Given the description of an element on the screen output the (x, y) to click on. 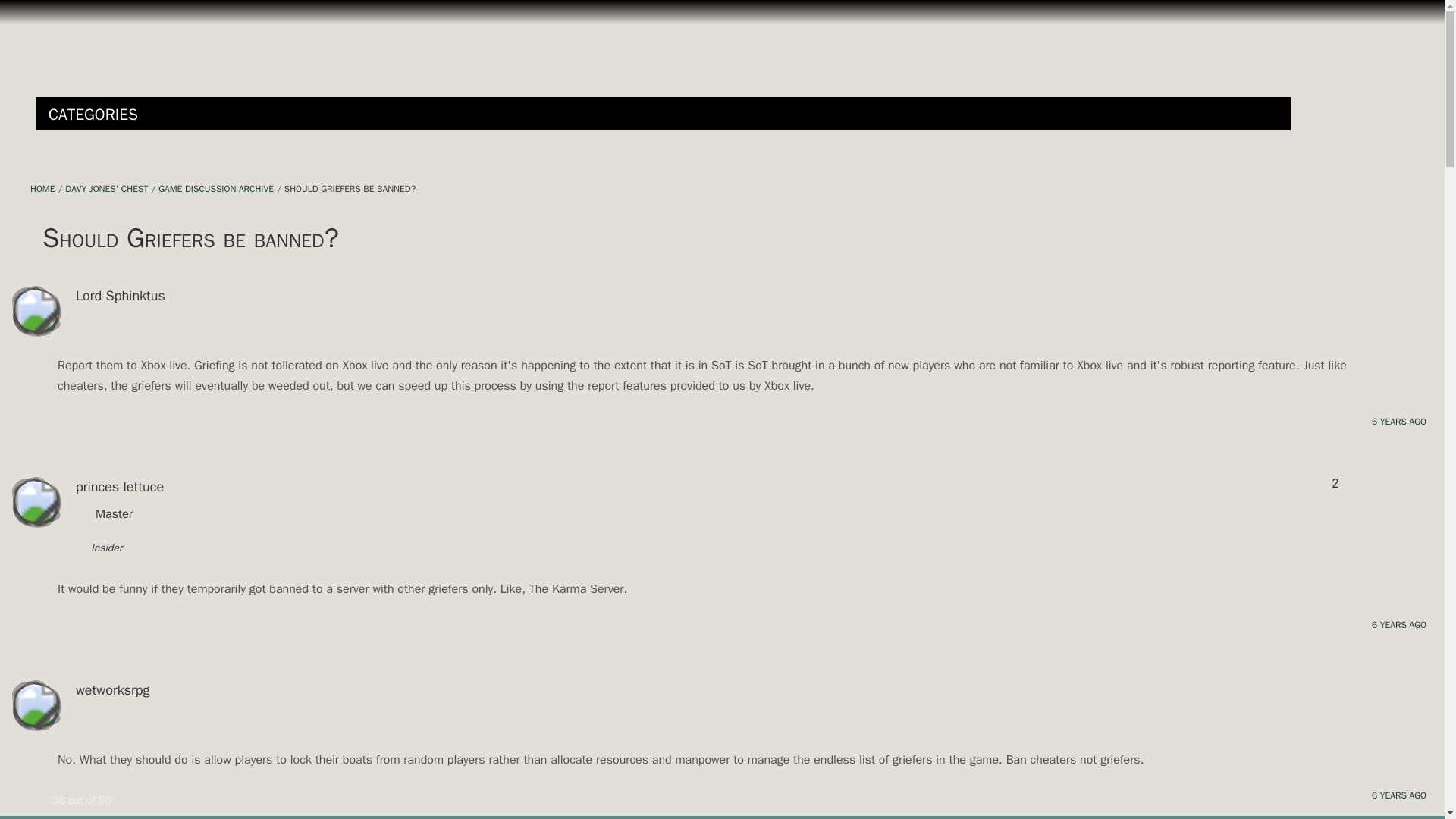
Offline (53, 295)
HOME (42, 188)
6 YEARS AGO (1398, 624)
GAME DISCUSSION ARCHIVE (215, 188)
2 (1335, 483)
6 YEARS AGO (1398, 795)
Offline (53, 689)
Show Voters (1335, 483)
Master (113, 515)
Offline (53, 486)
Should Griefers be banned? (348, 188)
DAVY JONES' CHEST (106, 188)
6 YEARS AGO (1398, 421)
Insider  (101, 549)
